Given the description of an element on the screen output the (x, y) to click on. 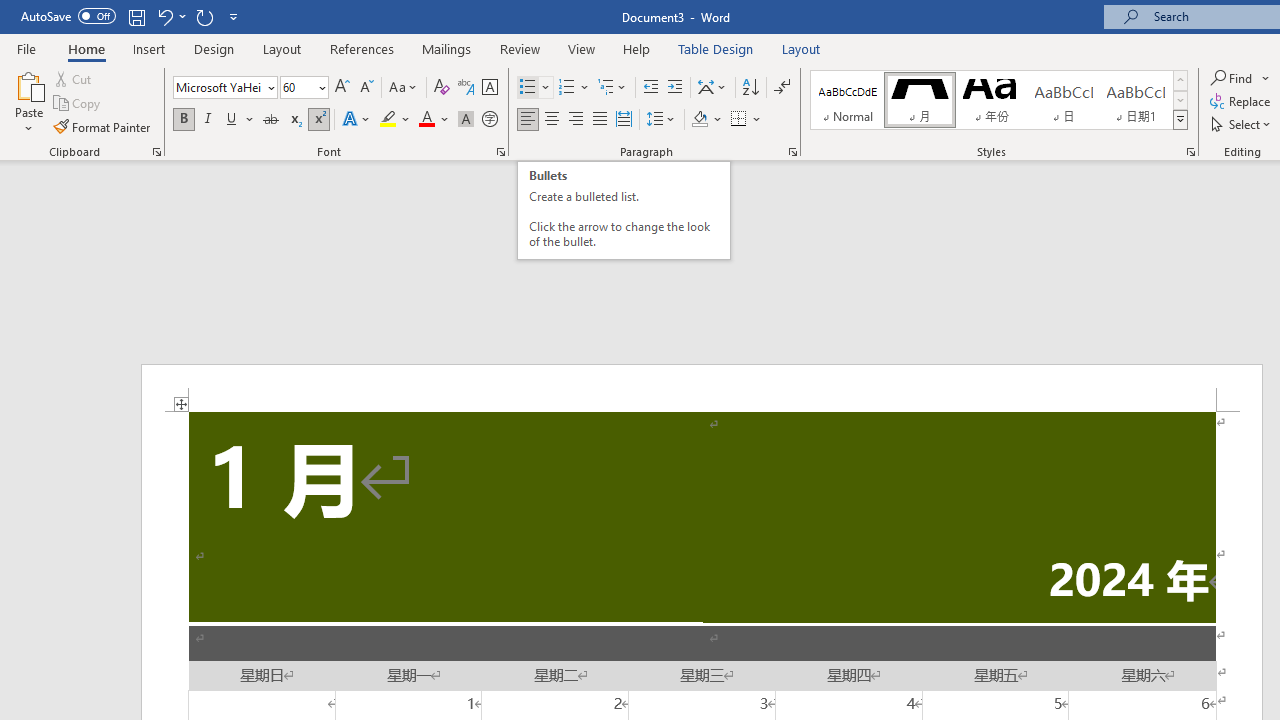
Asian Layout (712, 87)
Format Painter (103, 126)
Layout (801, 48)
